Given the description of an element on the screen output the (x, y) to click on. 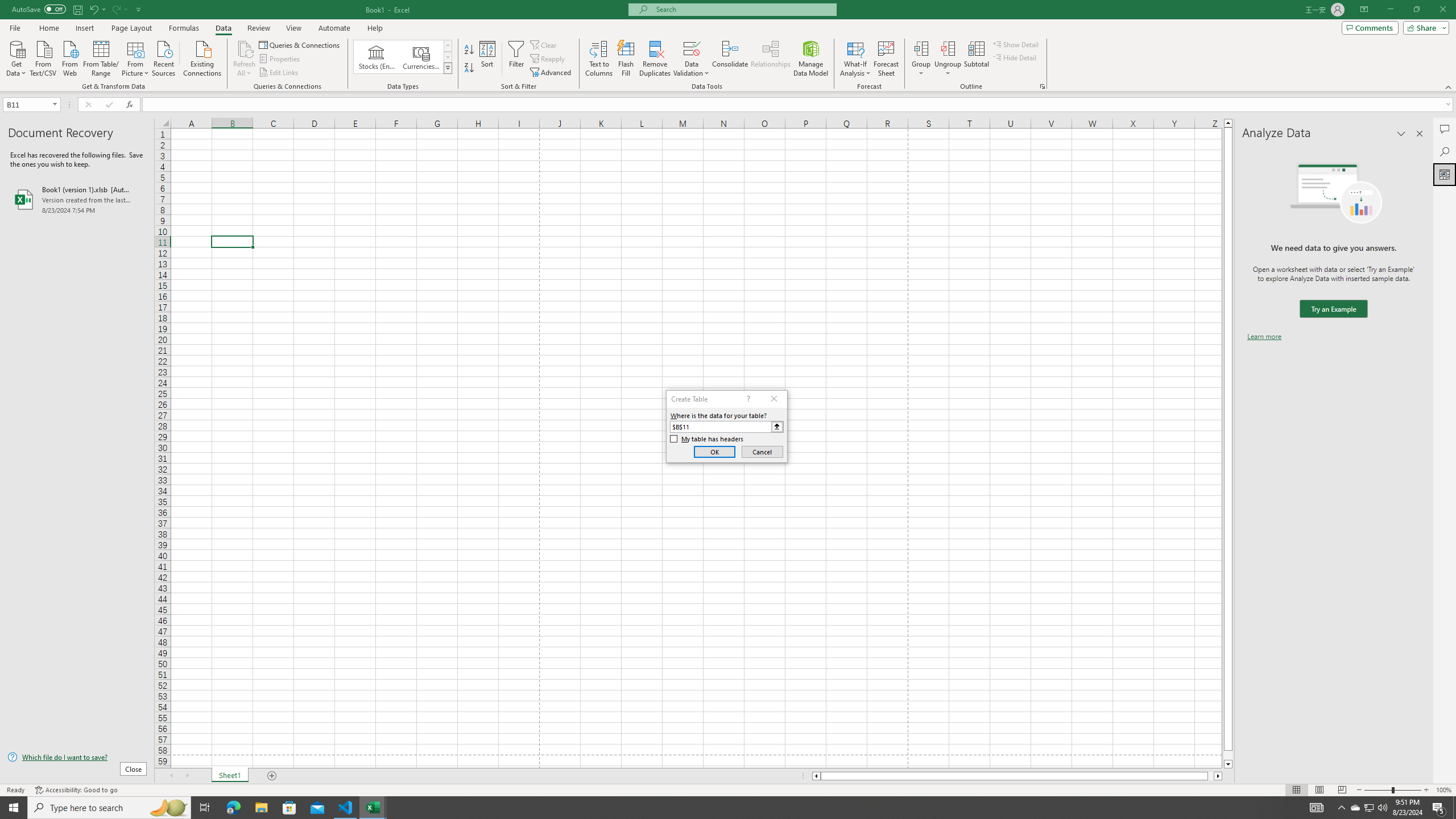
Formulas (184, 28)
Task Pane Options (1400, 133)
Refresh All (244, 48)
